Given the description of an element on the screen output the (x, y) to click on. 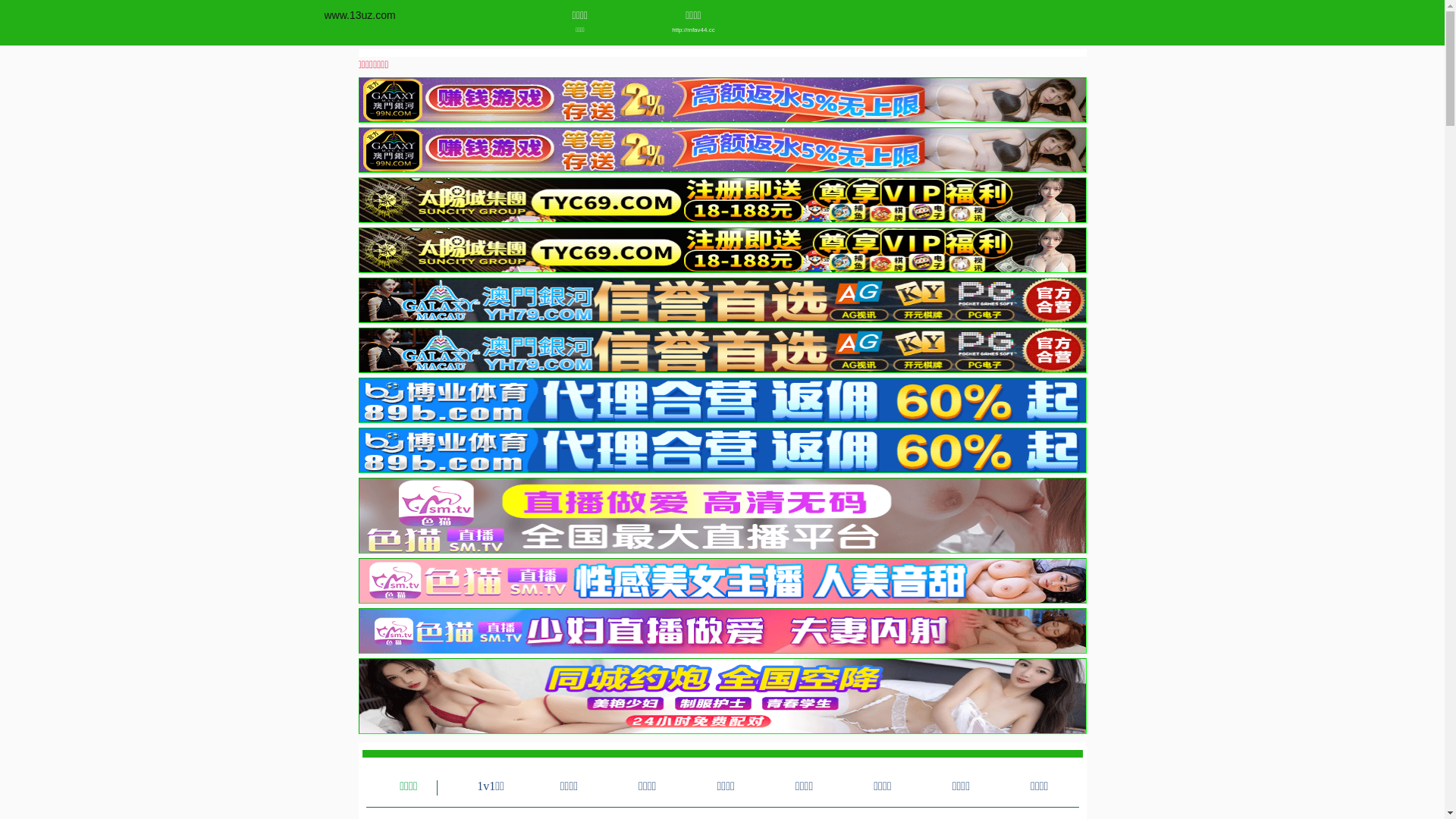
http://mfav44.cc Element type: text (693, 29)
www.13uz.com Element type: text (359, 15)
